Given the description of an element on the screen output the (x, y) to click on. 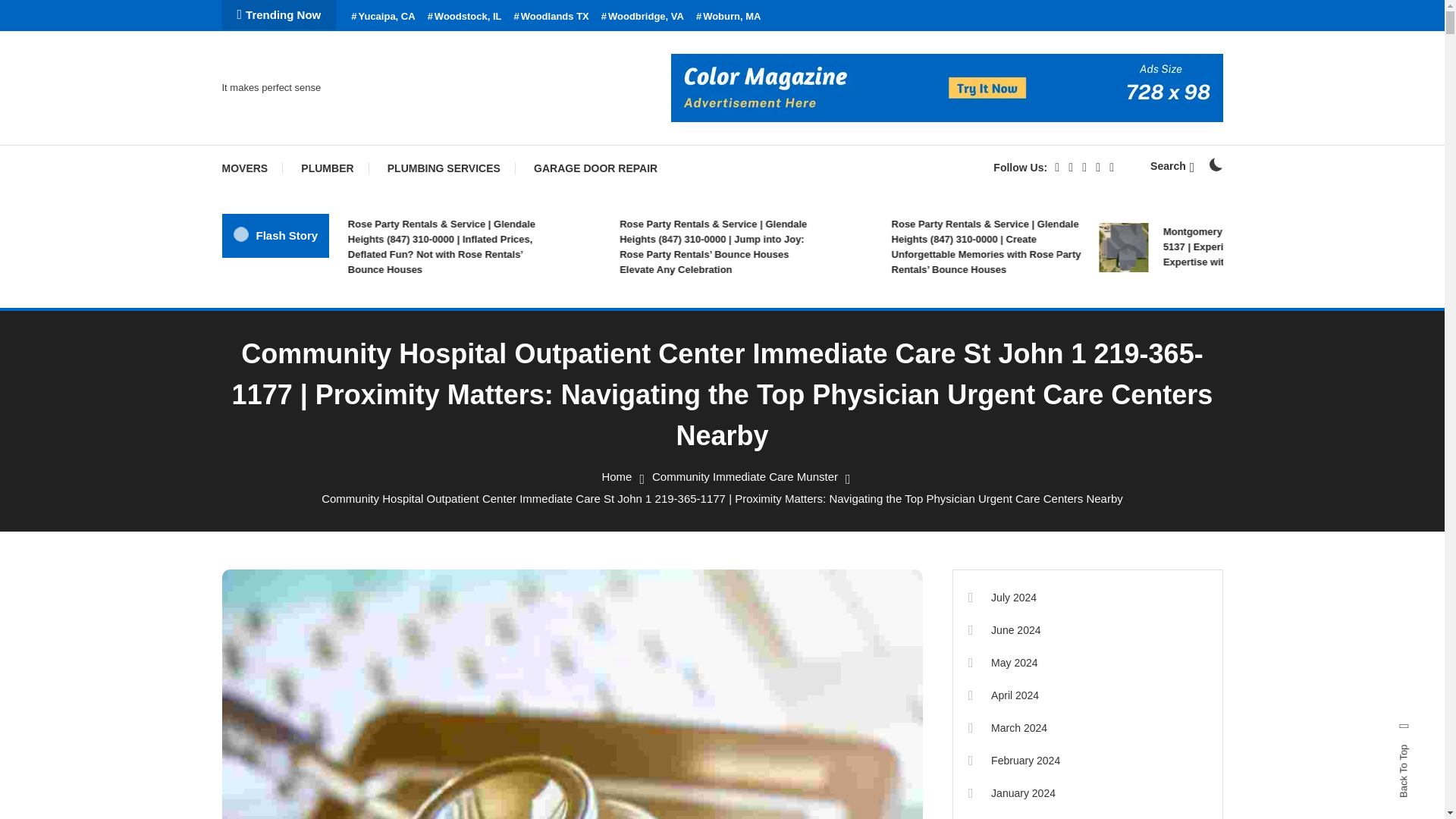
Woburn, MA (728, 16)
MOVERS (251, 167)
GARAGE DOOR REPAIR (595, 167)
Home (616, 476)
PLUMBING SERVICES (443, 167)
Woodbridge, VA (642, 16)
PLUMBER (326, 167)
Search (768, 434)
Yucaipa, CA (382, 16)
on (1215, 164)
Woodlands TX (550, 16)
Search (1171, 165)
Woodstock, IL (465, 16)
Skip To Content (40, 10)
